Given the description of an element on the screen output the (x, y) to click on. 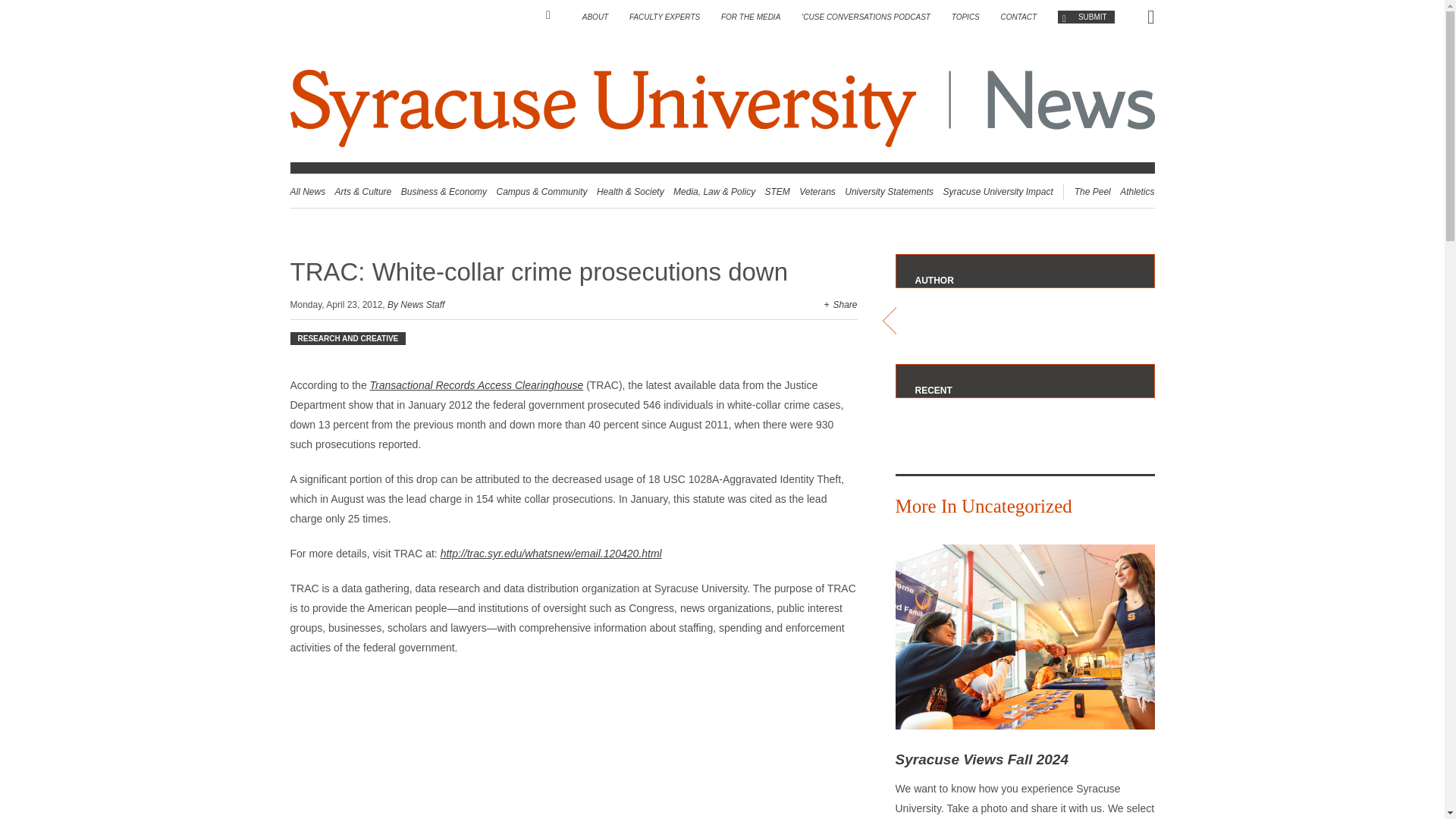
For The Media (750, 17)
Topics (965, 17)
Athletics (1136, 191)
Syracuse University News (721, 108)
Home (553, 15)
FOR THE MEDIA (750, 17)
About (595, 17)
HOME (553, 15)
Submit (1086, 16)
Syracuse University (604, 108)
